Given the description of an element on the screen output the (x, y) to click on. 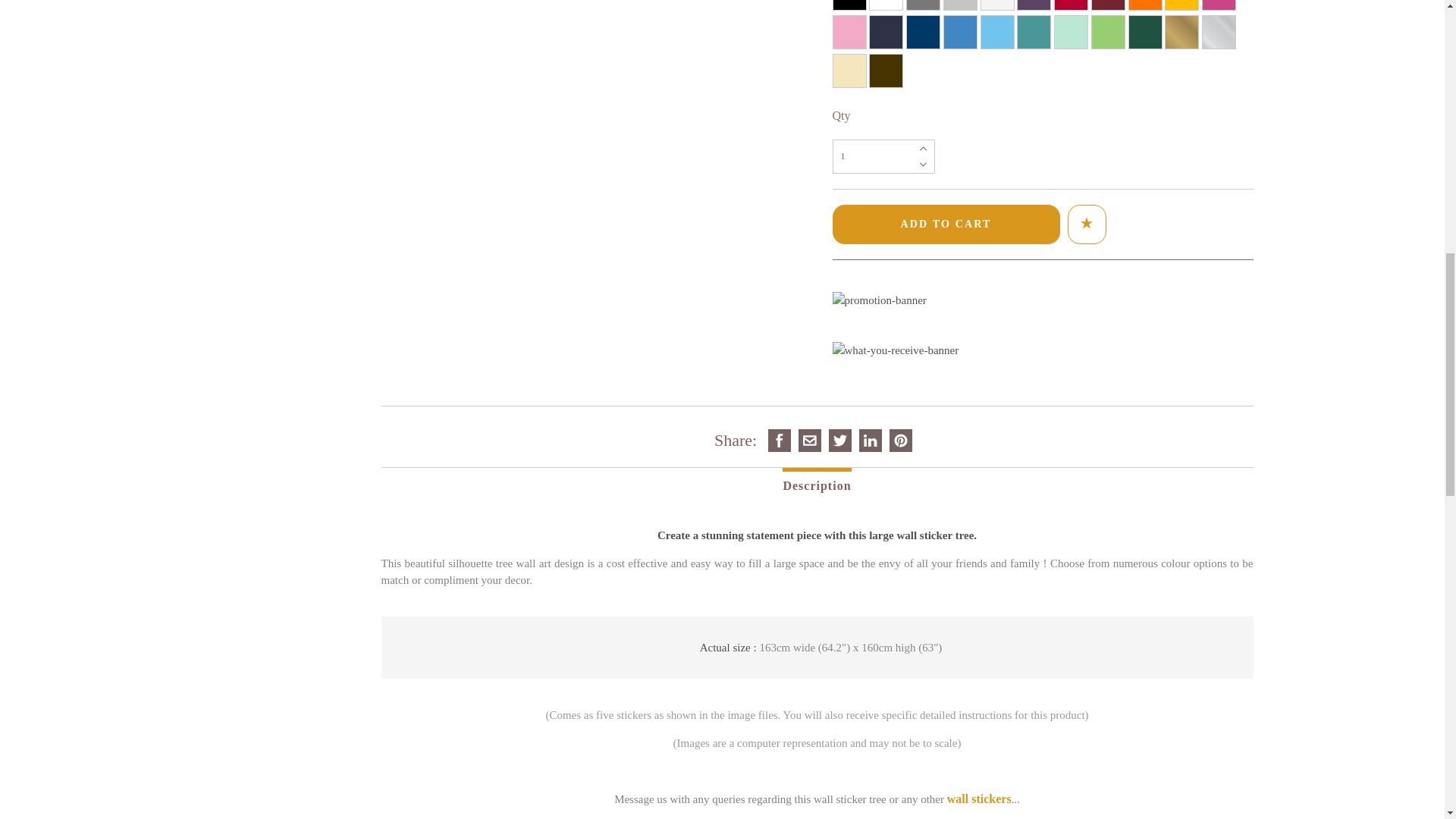
Share on Twitter (839, 440)
Share by email (809, 440)
Add to wishlist (1086, 223)
Share on LinkedIn (870, 440)
Add To Cart (945, 224)
Share on Facebook (779, 440)
1 (883, 156)
Share on Pinterest (900, 440)
